Given the description of an element on the screen output the (x, y) to click on. 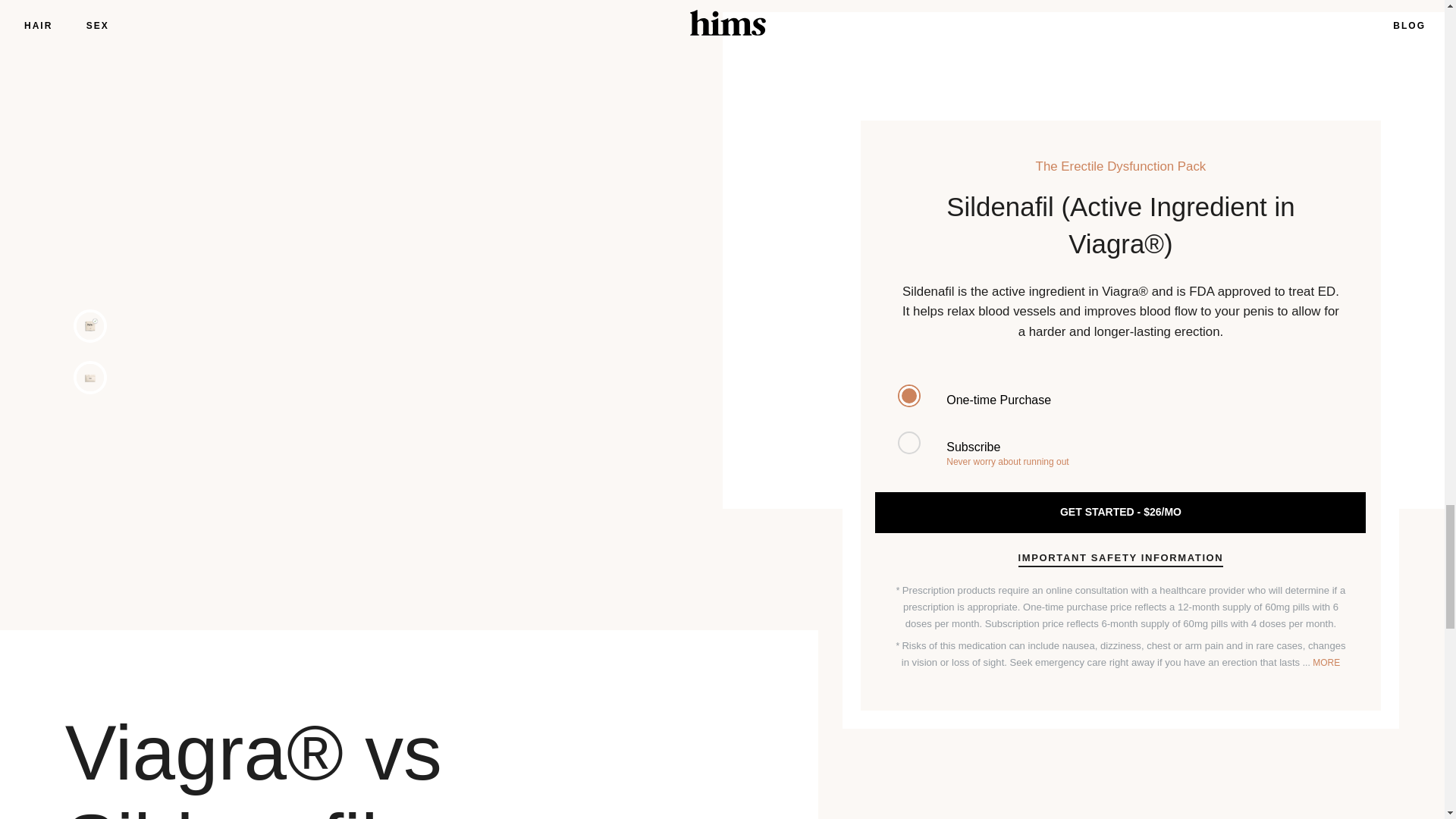
VIEW OUR RELATED ARTICLES (987, 416)
